Given the description of an element on the screen output the (x, y) to click on. 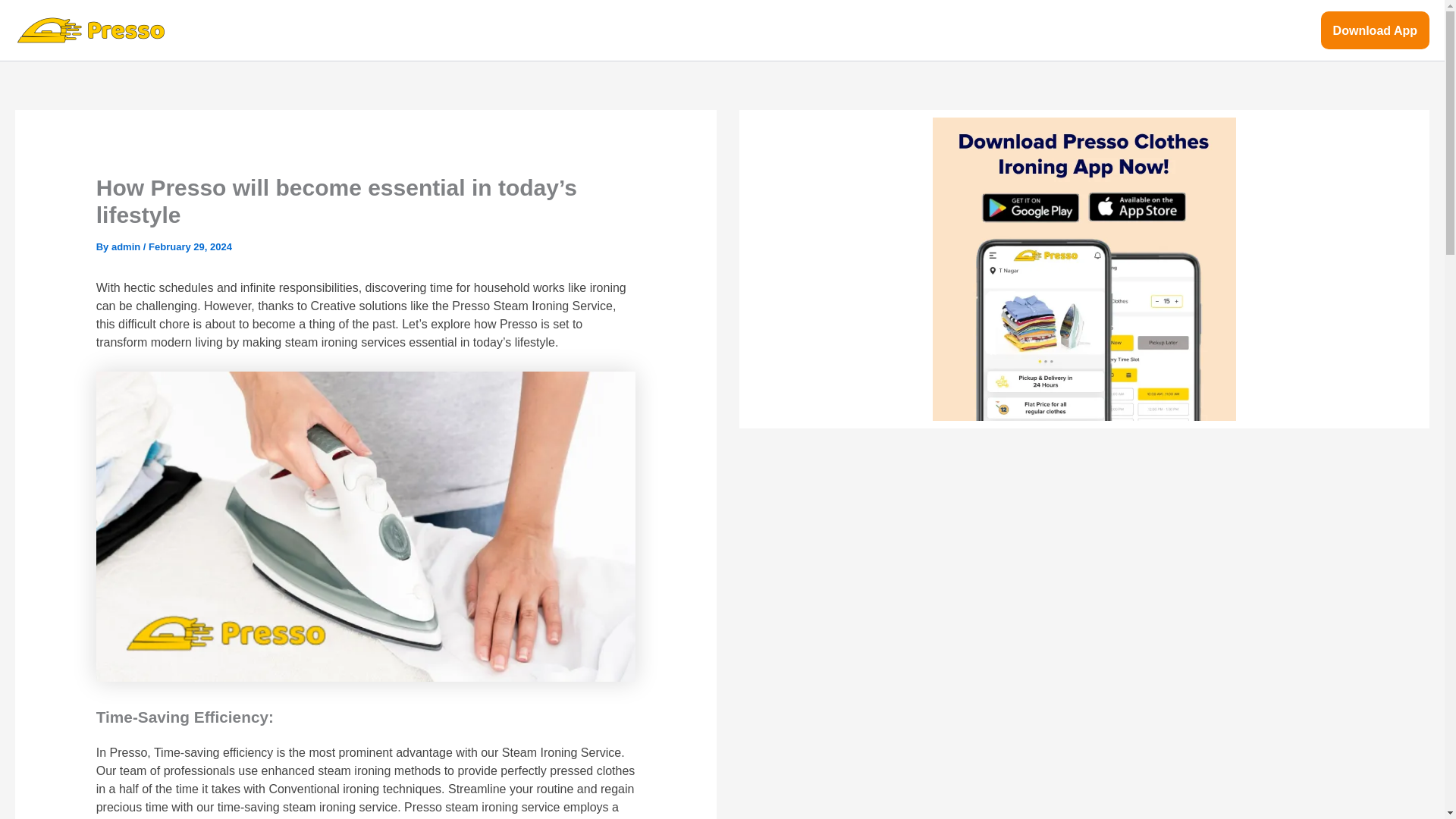
Download App (1374, 30)
Why Presso? (1057, 30)
Download Presso App (1084, 268)
About Us (968, 30)
View all posts by admin (127, 246)
Pricing (1140, 30)
admin (127, 246)
Blogs (1202, 30)
Contact Us (1275, 30)
